Given the description of an element on the screen output the (x, y) to click on. 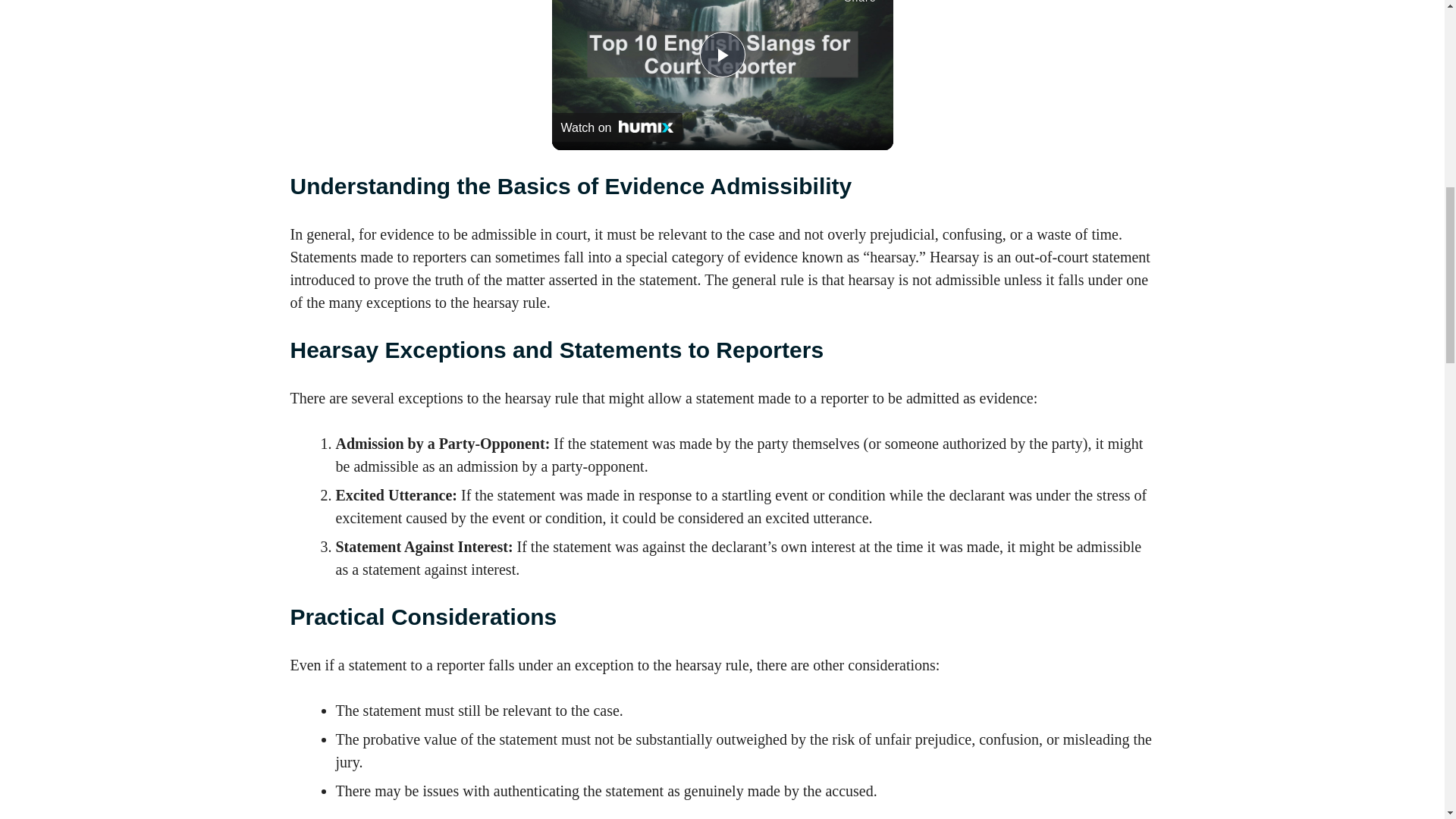
share (860, 4)
PLAY VIDEO (721, 53)
Watch on (616, 127)
Scroll back to top (1406, 720)
Play Video (721, 53)
Share (860, 4)
